Given the description of an element on the screen output the (x, y) to click on. 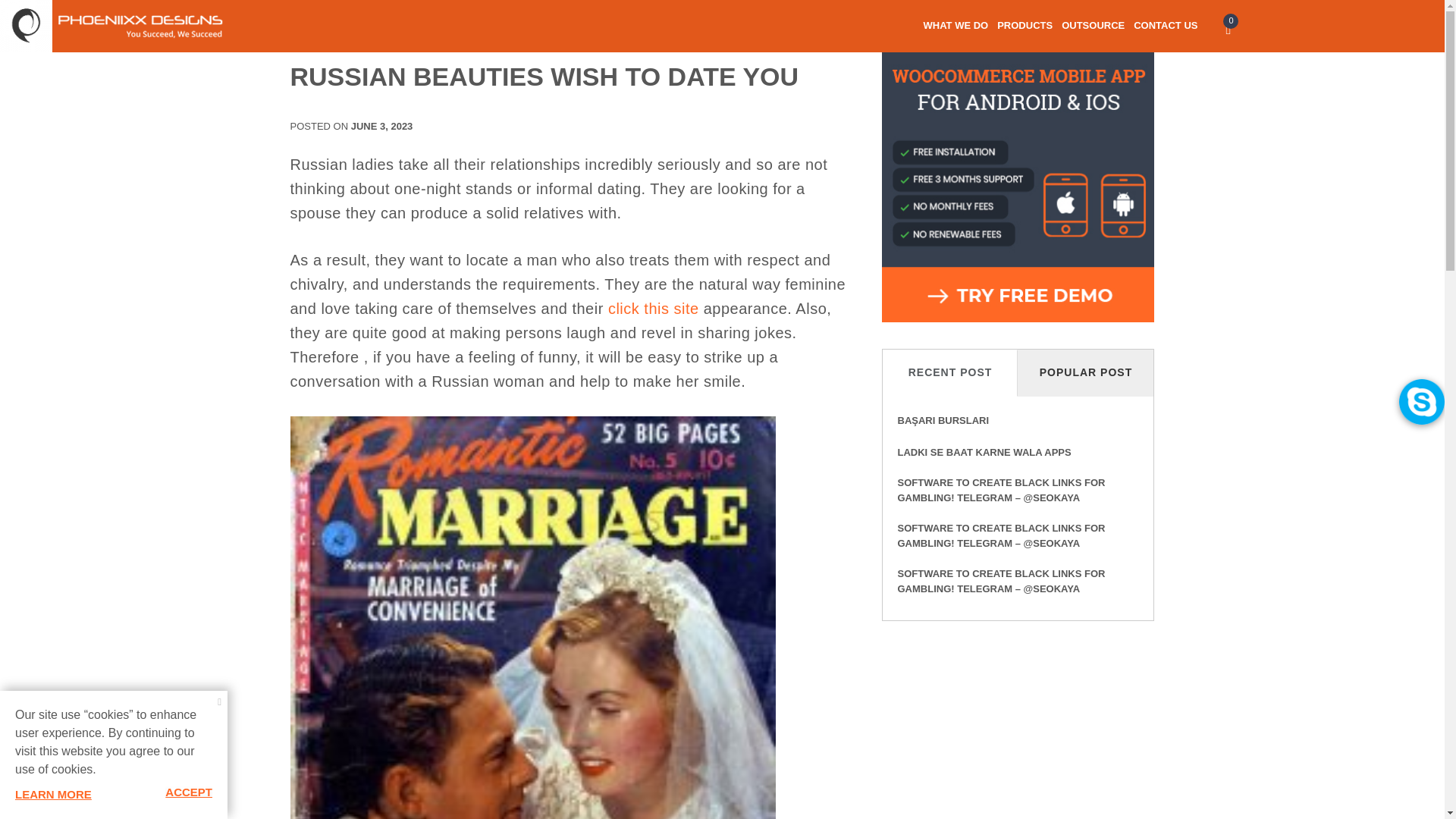
Phoeniixx (26, 60)
WHAT WE DO (955, 32)
JUNE 3, 2023 (381, 125)
OUTSOURCE (1092, 32)
PRODUCTS (1024, 32)
CONTACT US (1165, 32)
click this site (653, 308)
